Given the description of an element on the screen output the (x, y) to click on. 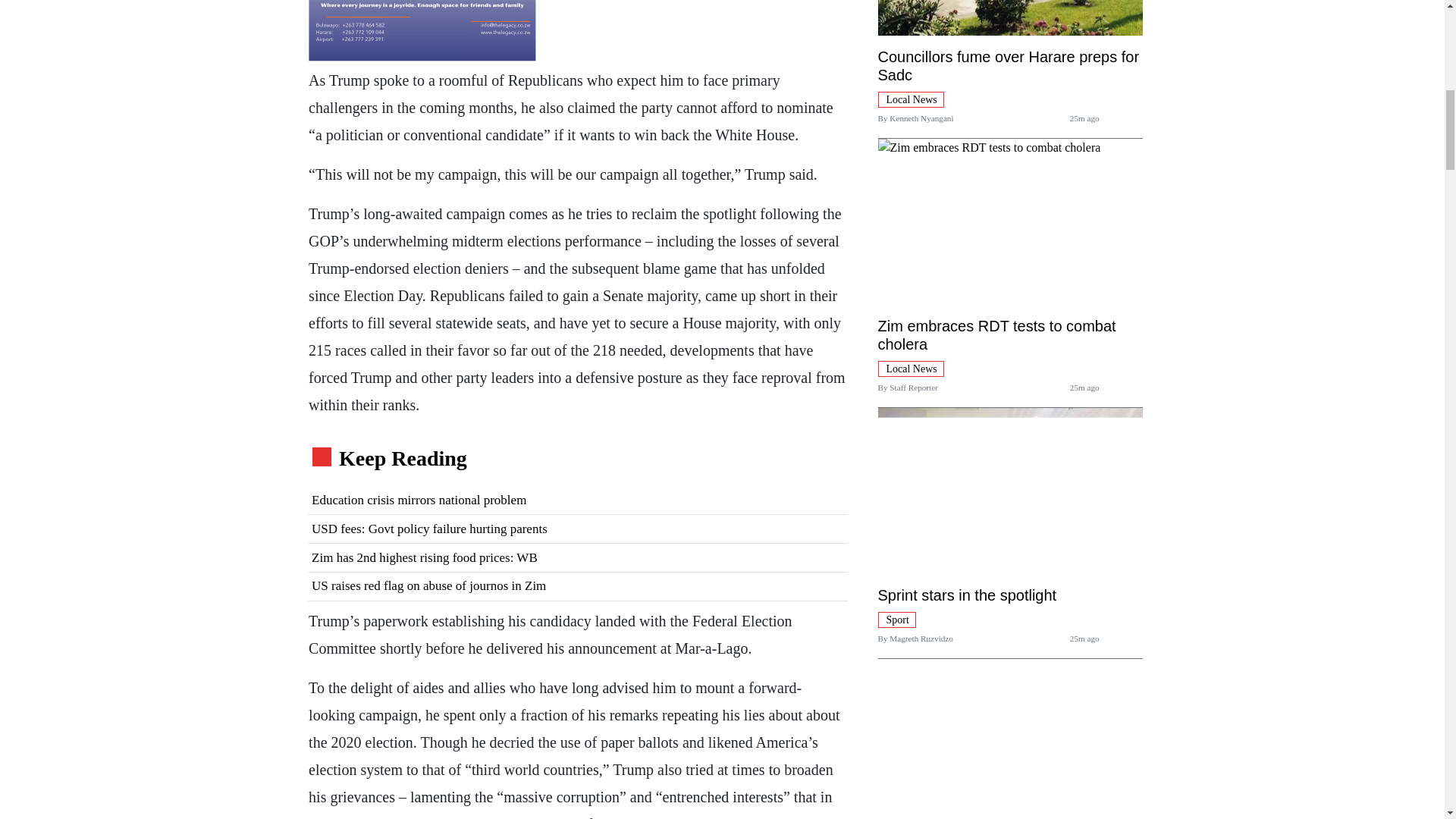
Magreth Ruzvidzo (921, 637)
Local News (910, 98)
Zim embraces RDT tests to combat cholera (996, 334)
Kenneth Nyangani (921, 117)
Local News (910, 367)
US raises red flag on abuse of journos in Zim (577, 586)
Education crisis mirrors national problem (577, 500)
3rd party ad content (421, 30)
USD fees: Govt policy failure hurting parents (577, 529)
Sprint stars in the spotlight (967, 595)
Staff Reporter (913, 387)
Councillors fume over Harare preps for Sadc (1008, 65)
Sport (896, 618)
Zim has 2nd highest rising food prices: WB (577, 557)
